Given the description of an element on the screen output the (x, y) to click on. 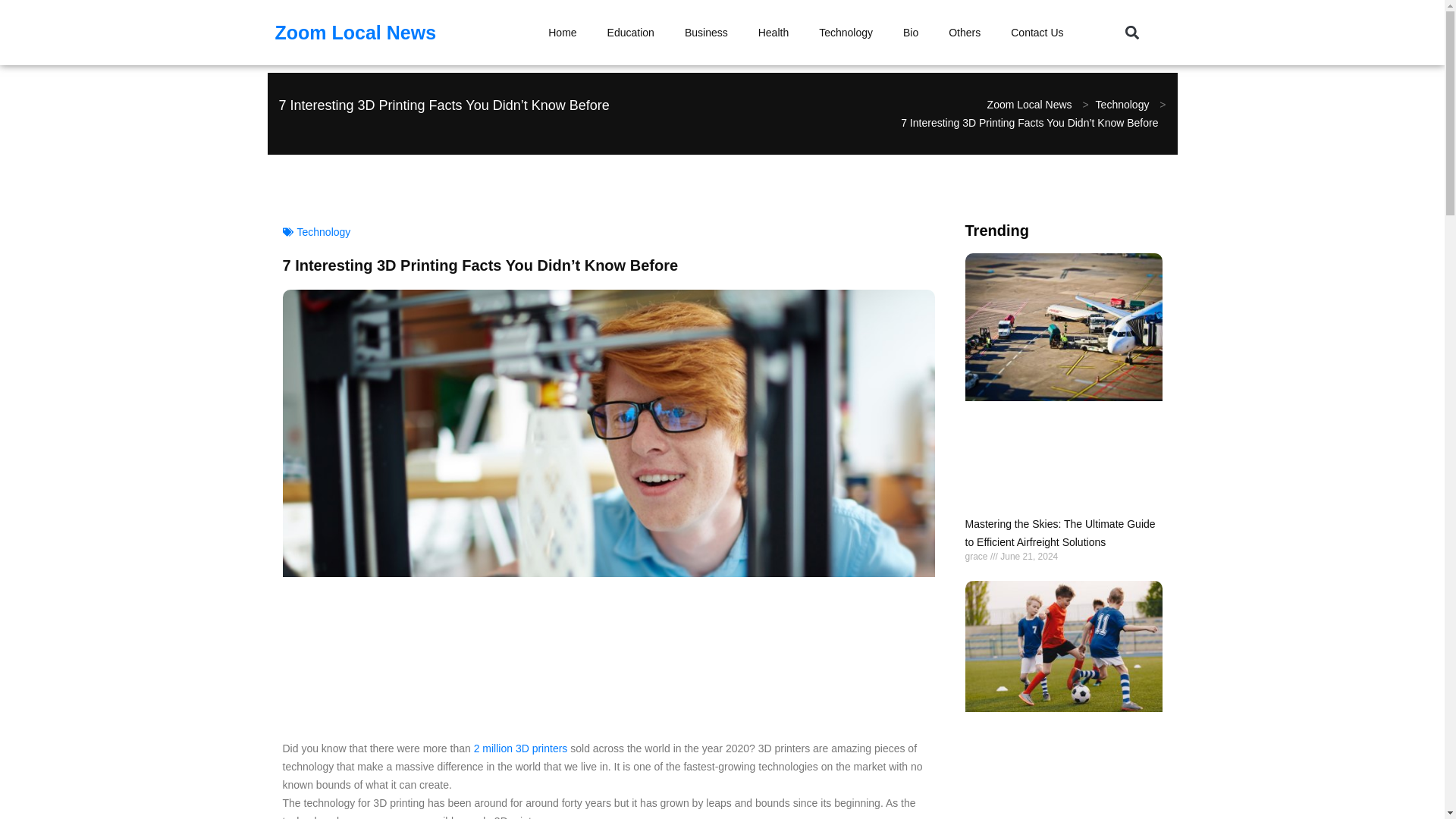
Others (964, 32)
Business (705, 32)
Contact Us (1036, 32)
Go to the Technology Category archives. (1124, 104)
Zoom Local News (355, 31)
Home (561, 32)
Go to Zoom Local News. (1031, 104)
Health (772, 32)
Technology (845, 32)
Bio (910, 32)
